Given the description of an element on the screen output the (x, y) to click on. 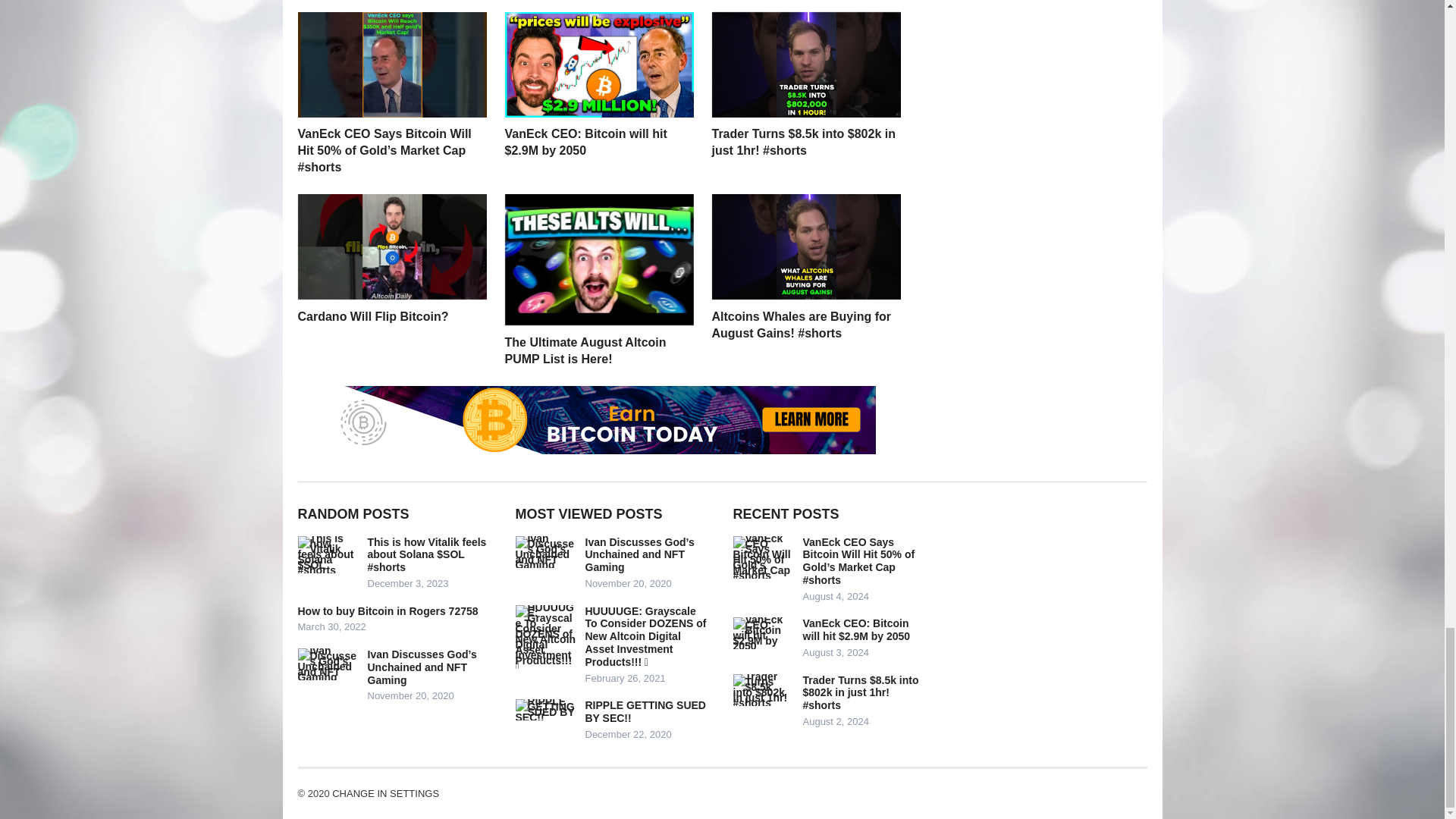
Cardano Will Flip Bitcoin? 8 (391, 246)
The Ultimate August Altcoin PUMP List is Here! 10 (599, 259)
